Given the description of an element on the screen output the (x, y) to click on. 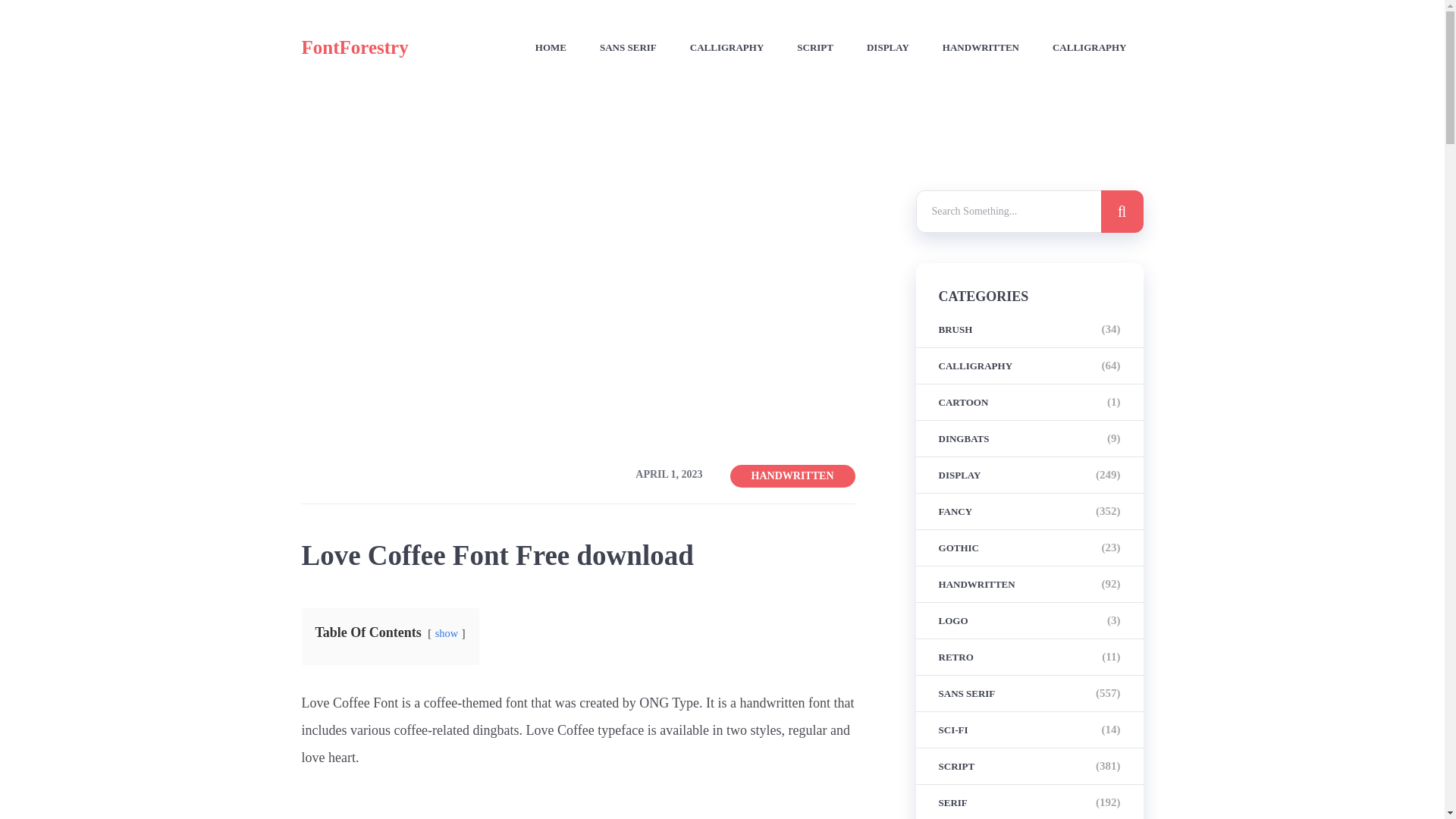
CARTOON (963, 401)
FANCY (955, 511)
SANS SERIF (627, 47)
CALLIGRAPHY (1089, 47)
HOME (550, 47)
CALLIGRAPHY (727, 47)
show (446, 633)
DISPLAY (887, 47)
SCRIPT (814, 47)
DINGBATS (964, 438)
